Given the description of an element on the screen output the (x, y) to click on. 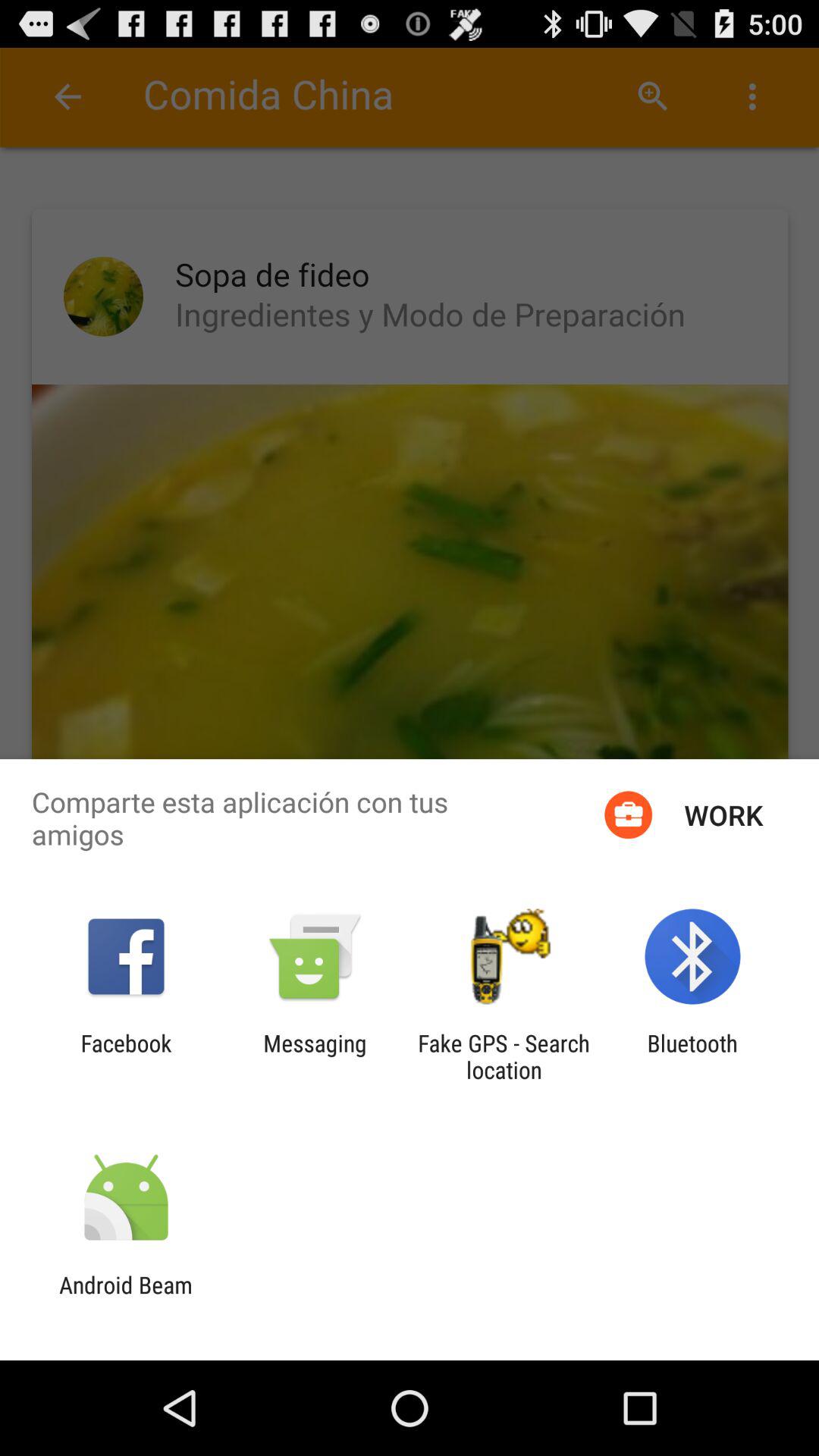
turn off the fake gps search item (503, 1056)
